Given the description of an element on the screen output the (x, y) to click on. 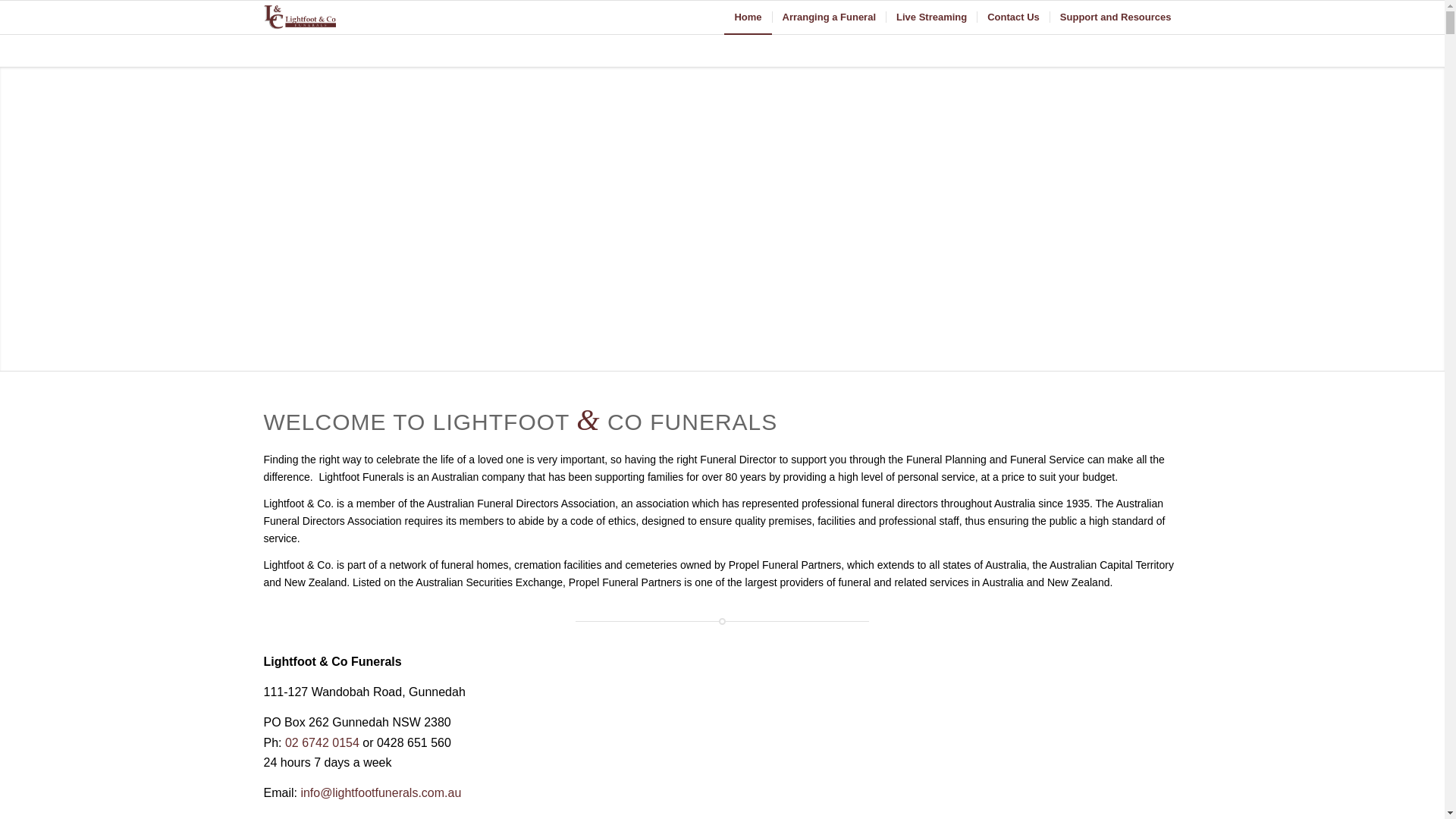
02 6742 0154 Element type: text (322, 742)
Arranging a Funeral Element type: text (828, 17)
info@lightfootfunerals.com.au Element type: text (380, 792)
Support and Resources Element type: text (1115, 17)
Contact Us Element type: text (1012, 17)
Home Element type: text (747, 17)
Live Streaming Element type: text (930, 17)
